Given the description of an element on the screen output the (x, y) to click on. 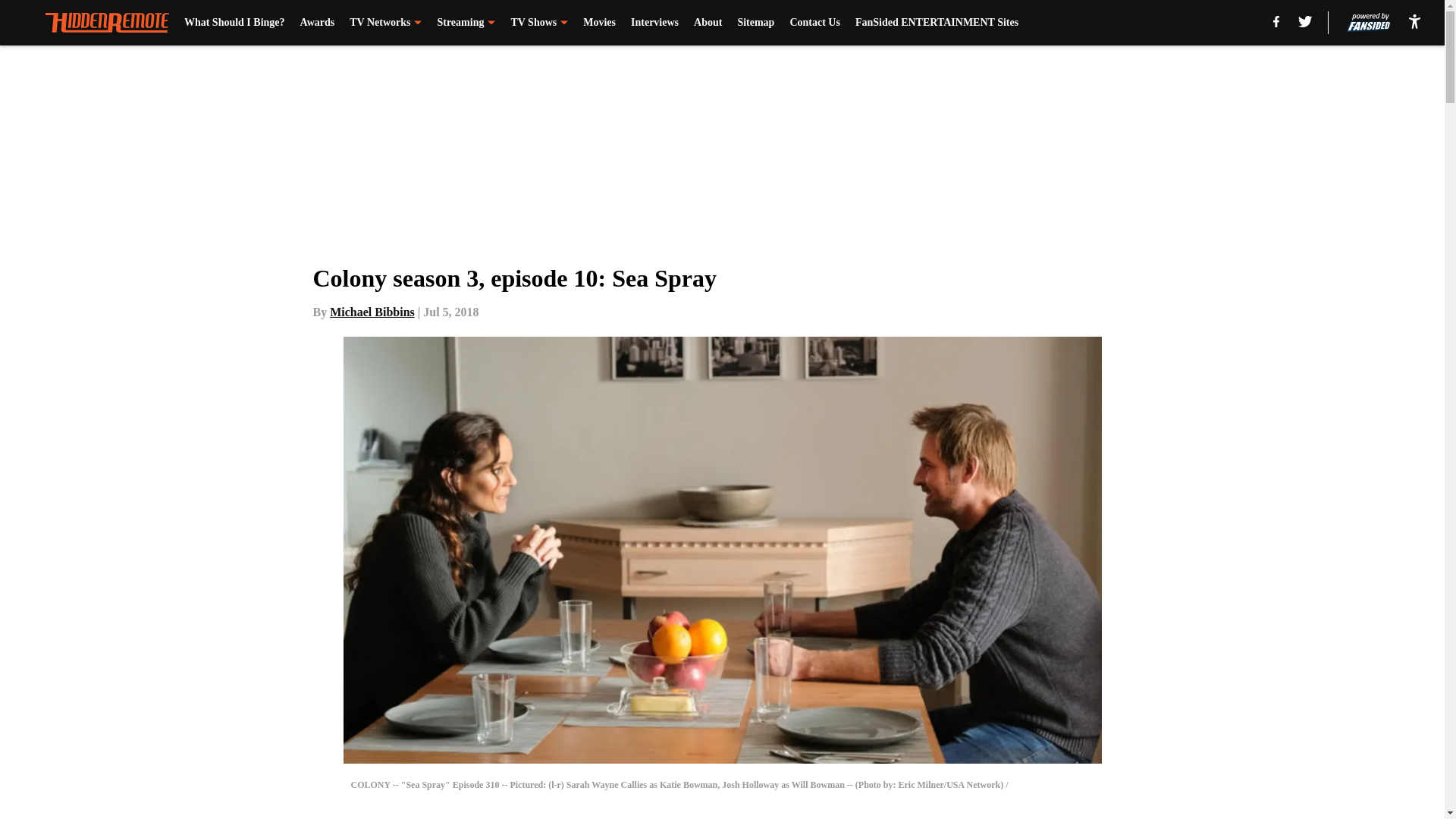
FanSided ENTERTAINMENT Sites (936, 22)
What Should I Binge? (234, 22)
Contact Us (814, 22)
Interviews (654, 22)
Movies (599, 22)
About (708, 22)
Sitemap (755, 22)
Michael Bibbins (372, 311)
Awards (316, 22)
